Given the description of an element on the screen output the (x, y) to click on. 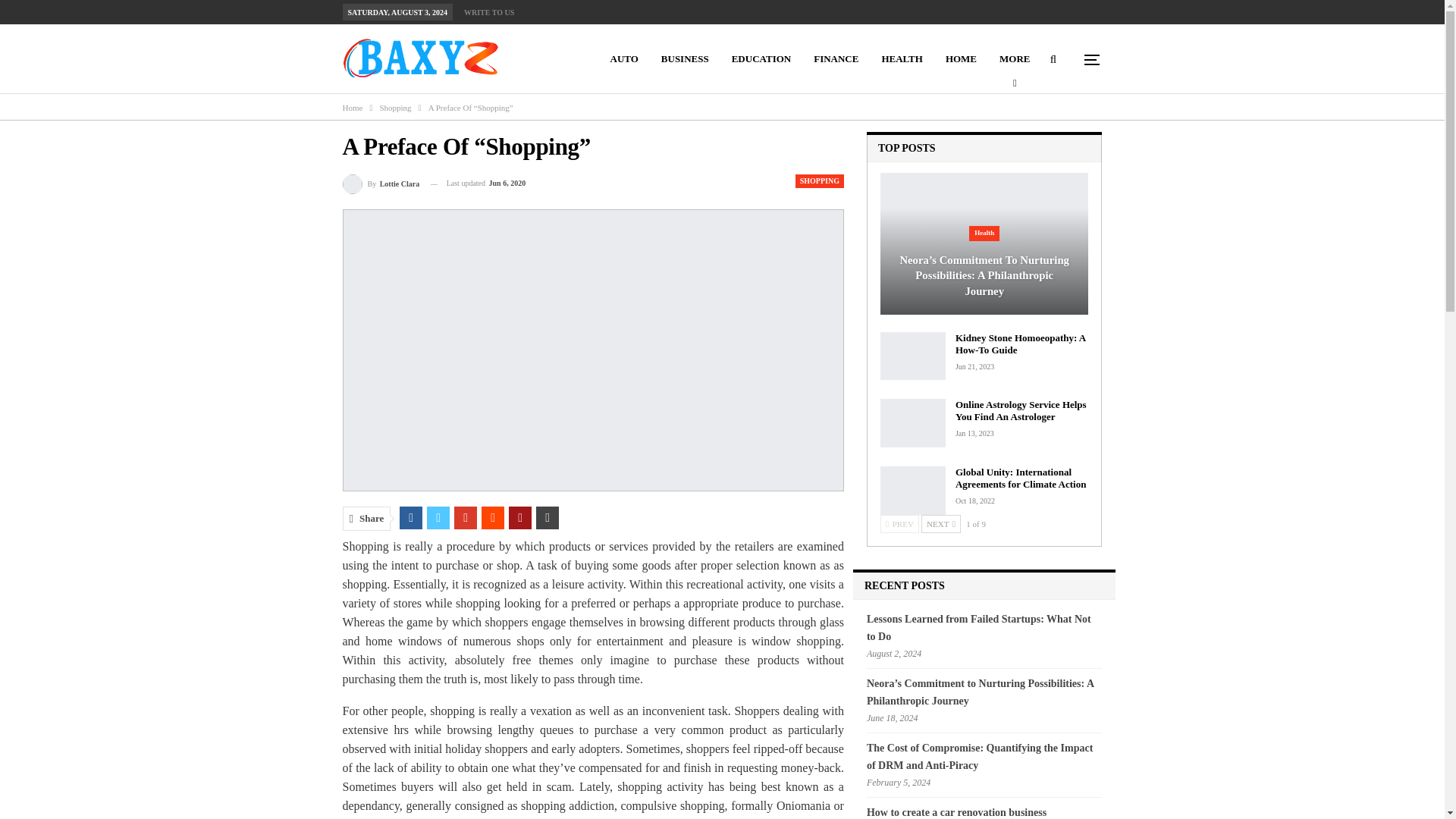
WRITE TO US (488, 12)
BUSINESS (684, 59)
HEALTH (901, 59)
SHOPPING (819, 181)
Shopping (394, 107)
FINANCE (835, 59)
By Lottie Clara (381, 183)
EDUCATION (761, 59)
Browse Author Articles (381, 183)
Home (352, 107)
